Given the description of an element on the screen output the (x, y) to click on. 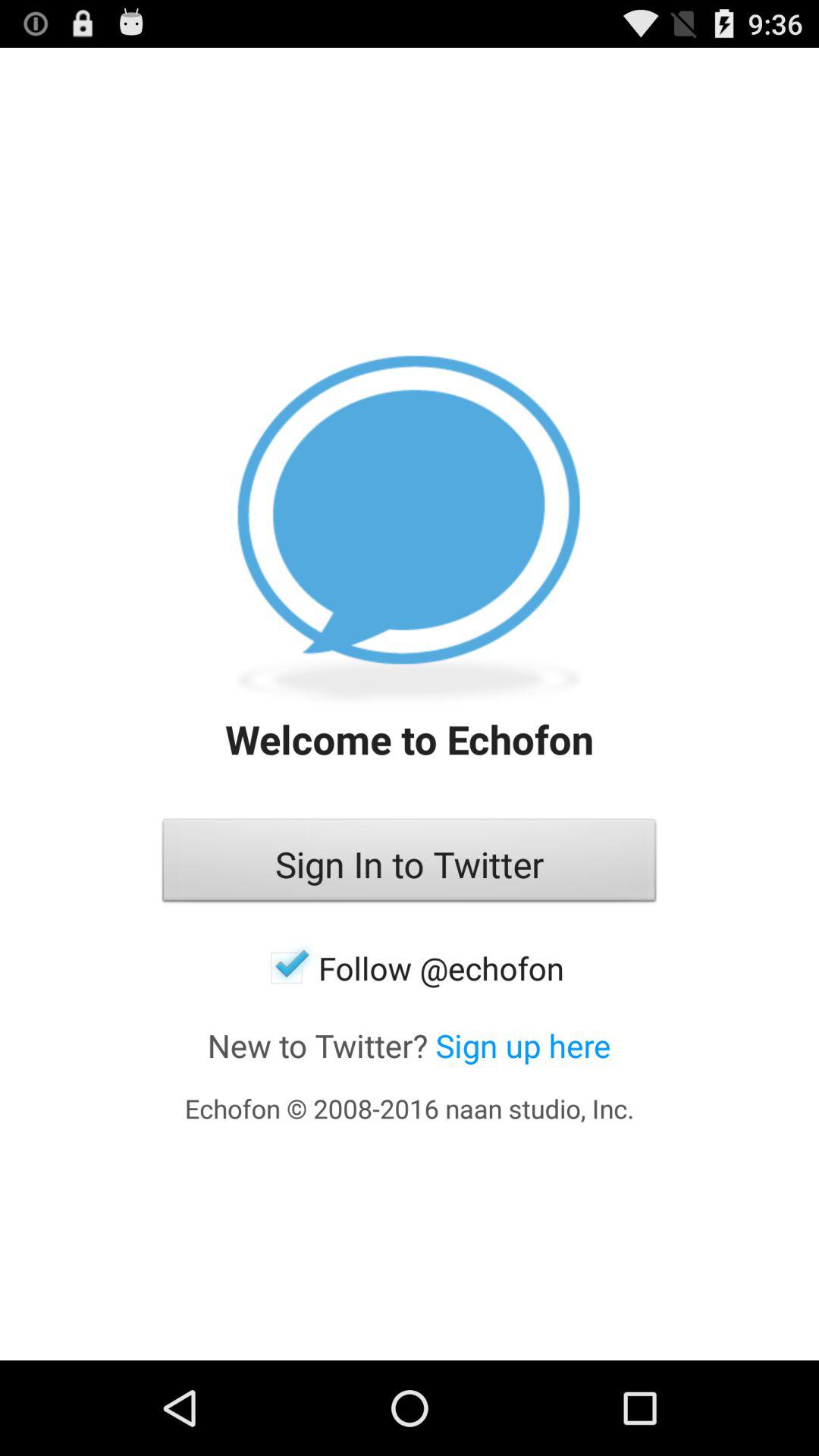
launch the button below sign in to (409, 967)
